Given the description of an element on the screen output the (x, y) to click on. 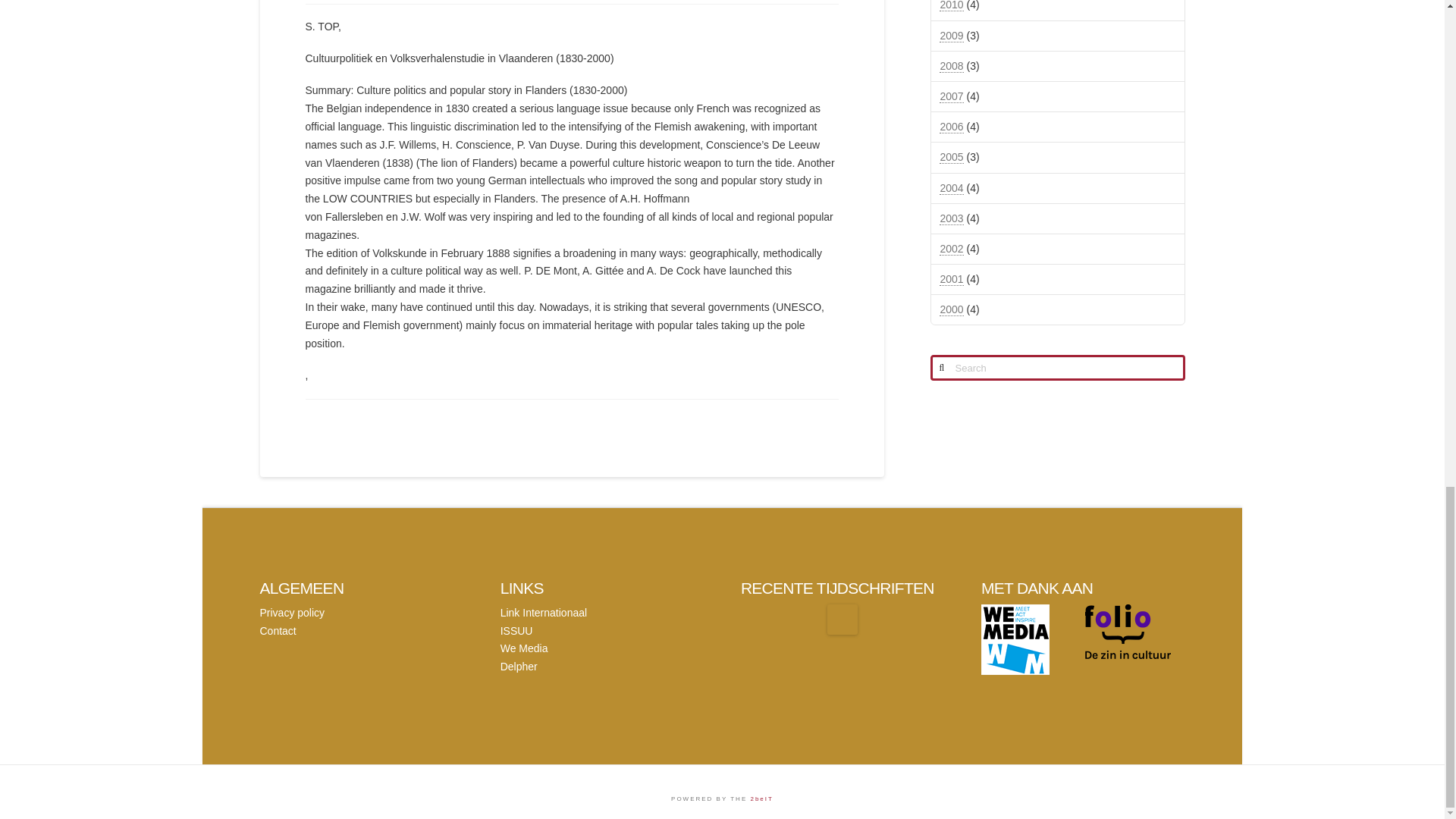
2009 (950, 35)
2008 (950, 65)
2000 (950, 309)
2005 (950, 156)
2010 (950, 5)
2006 (950, 126)
2001 (950, 278)
2002 (950, 248)
2007 (950, 96)
2003 (950, 218)
